Given the description of an element on the screen output the (x, y) to click on. 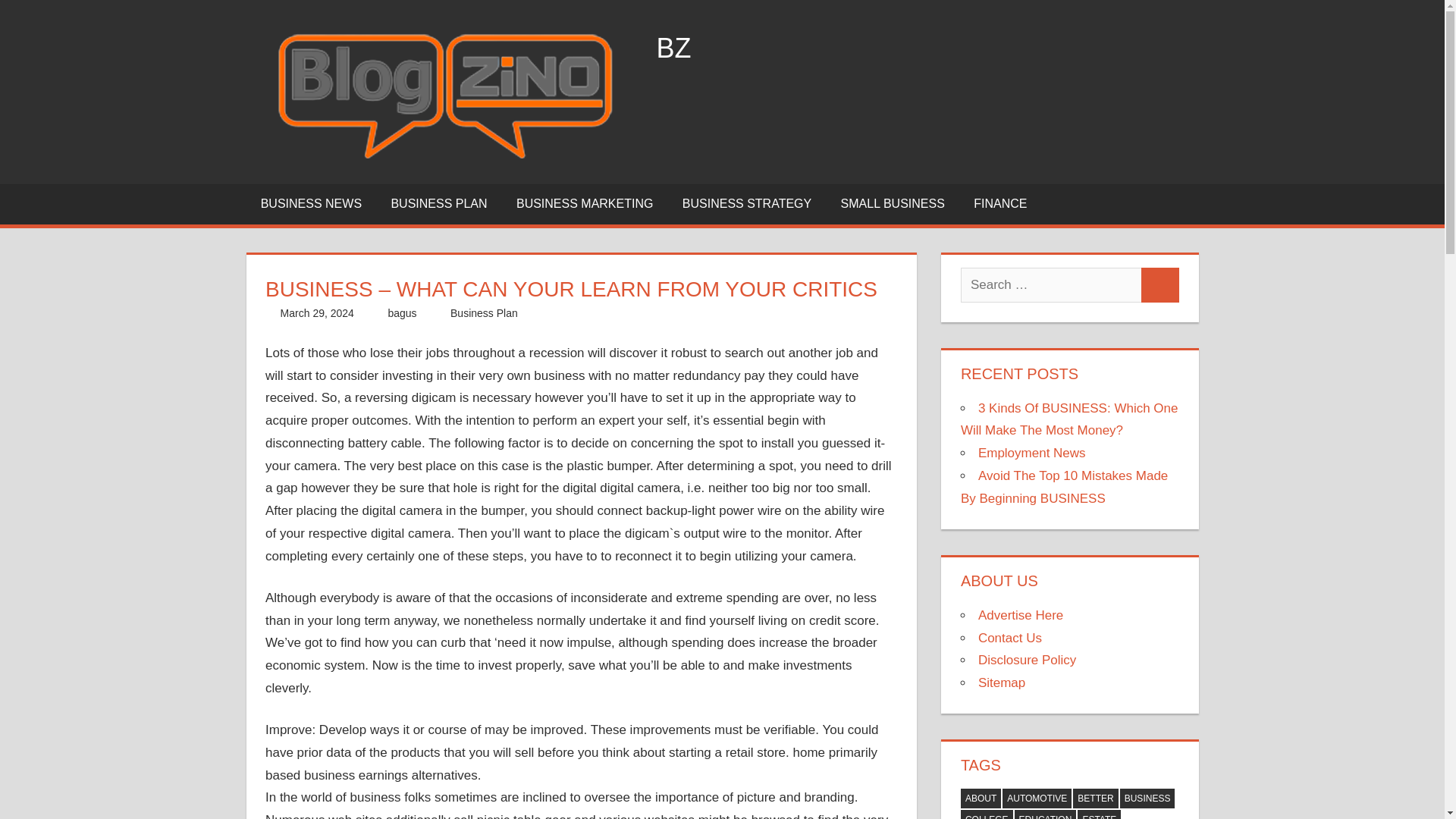
7:01 am (317, 313)
View all posts by bagus (401, 313)
Sitemap (1001, 682)
BUSINESS STRATEGY (747, 203)
BUSINESS MARKETING (585, 203)
Avoid The Top 10 Mistakes Made By Beginning BUSINESS (1063, 487)
BUSINESS (1146, 798)
EDUCATION (1045, 814)
Search for: (1050, 284)
Search (1160, 284)
